Given the description of an element on the screen output the (x, y) to click on. 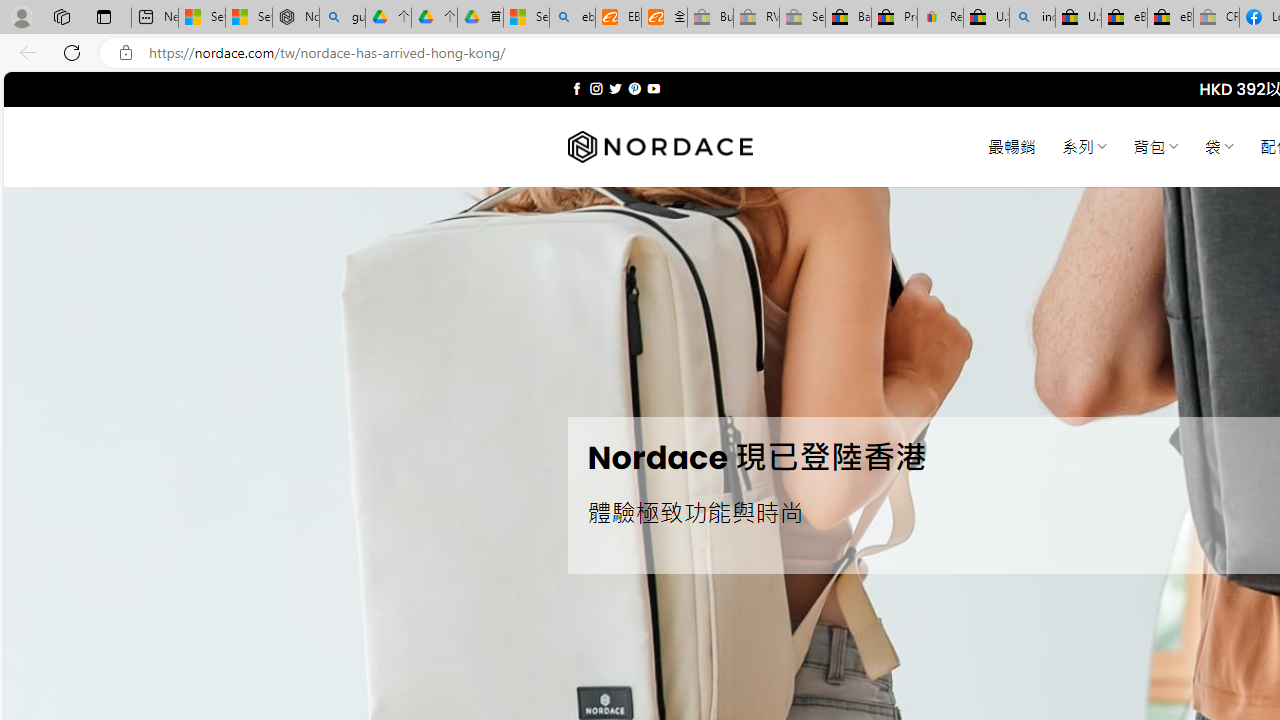
Register: Create a personal eBay account (939, 17)
Press Room - eBay Inc. (893, 17)
Buy Auto Parts & Accessories | eBay - Sleeping (710, 17)
Follow on Twitter (615, 88)
Baby Keepsakes & Announcements for sale | eBay (848, 17)
including - Search (1031, 17)
Follow on Facebook (576, 88)
